Given the description of an element on the screen output the (x, y) to click on. 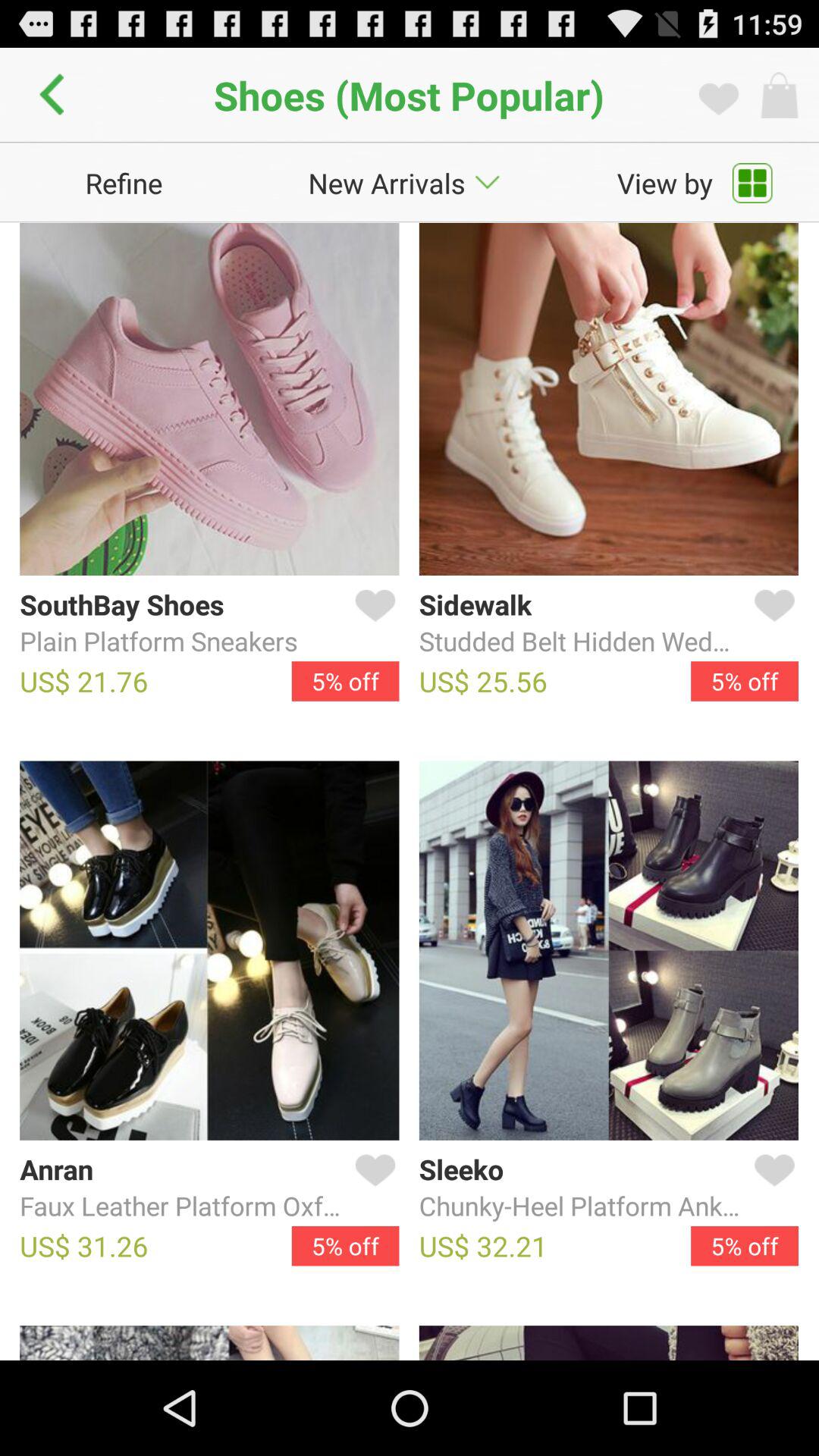
favorite item (372, 623)
